Given the description of an element on the screen output the (x, y) to click on. 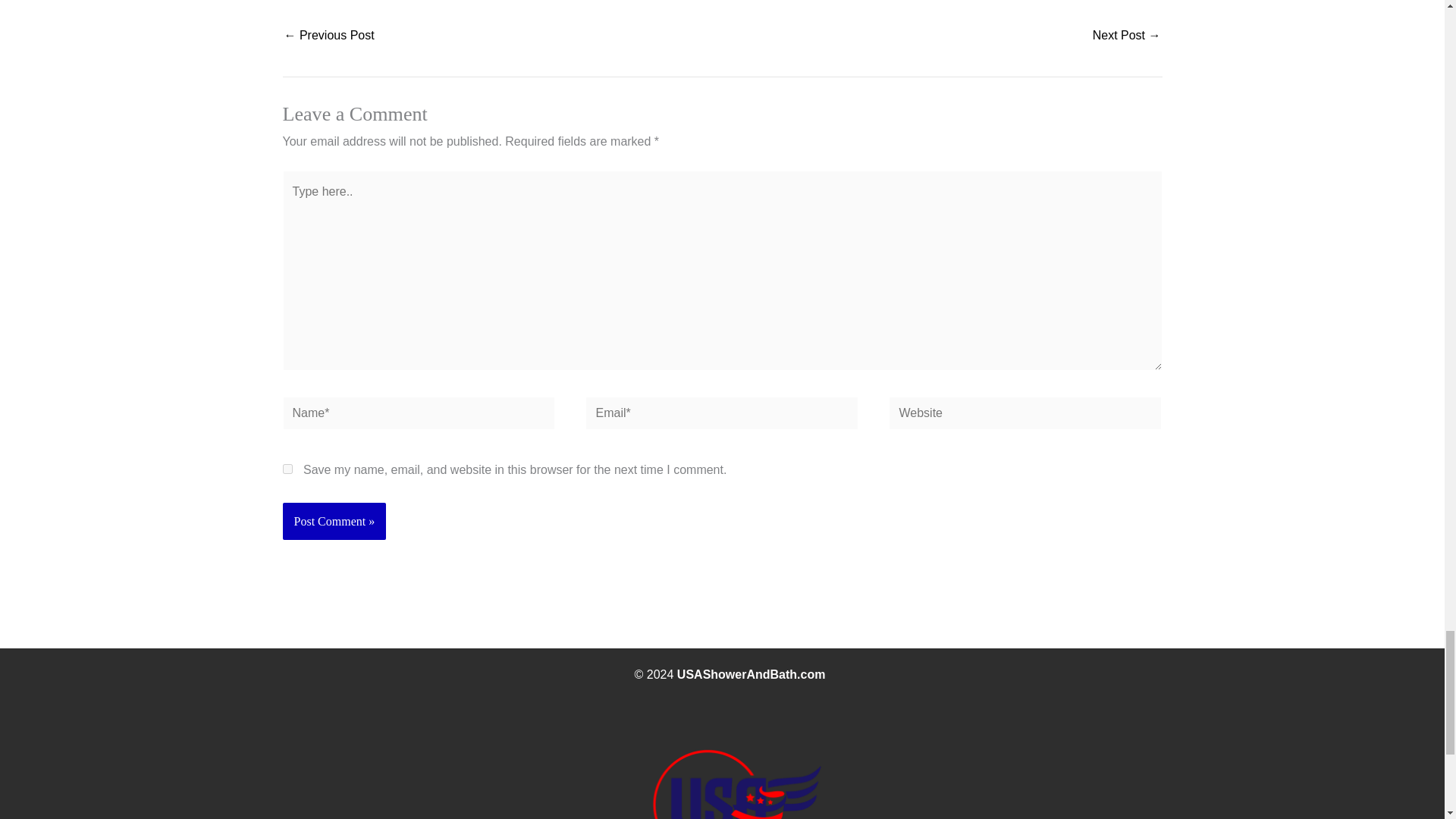
yes (287, 469)
